Given the description of an element on the screen output the (x, y) to click on. 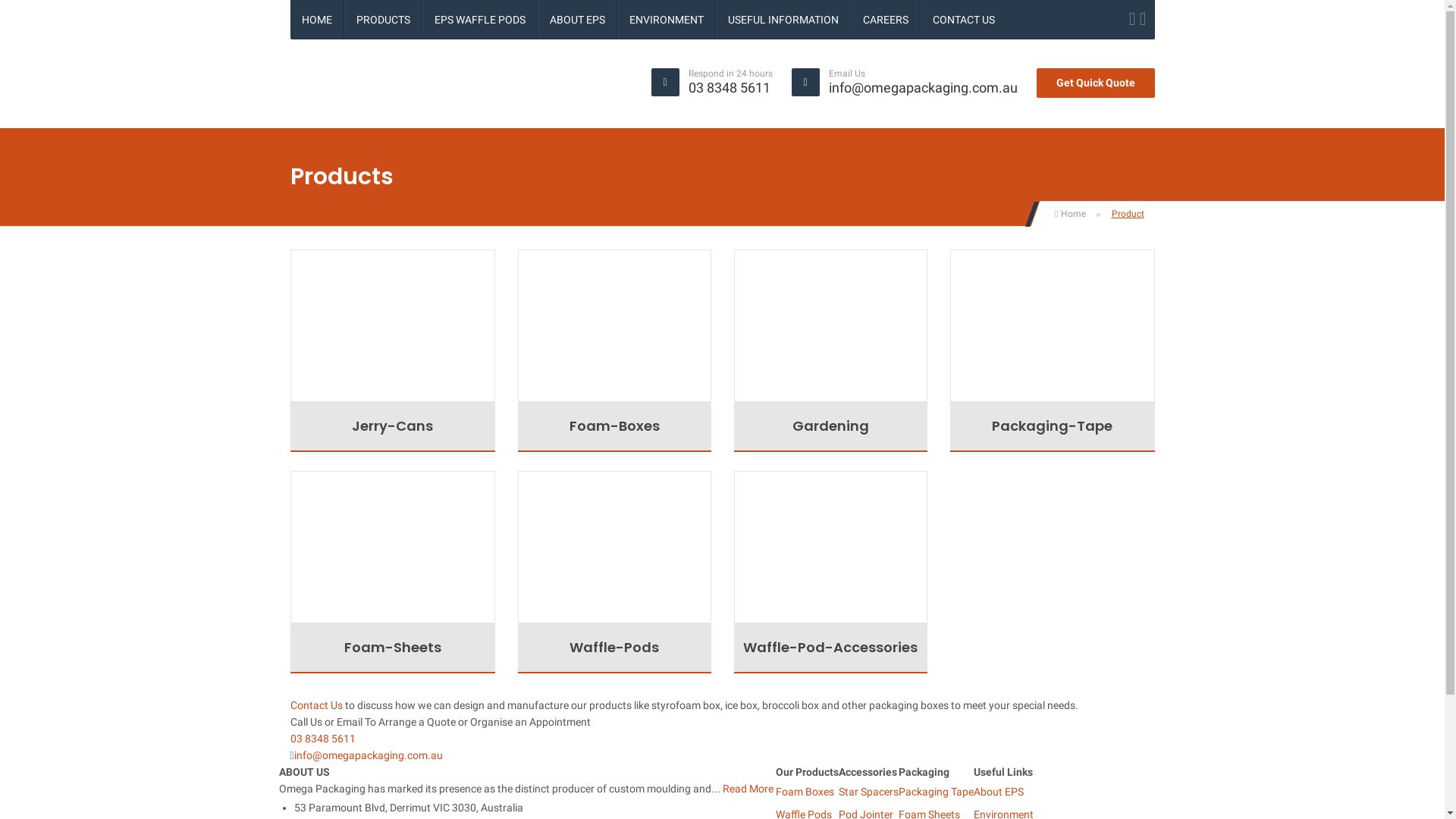
EPS WAFFLE PODS Element type: text (479, 19)
Packaging Tape Element type: text (934, 791)
About EPS Element type: text (998, 791)
USEFUL INFORMATION Element type: text (782, 19)
Foam-Boxes Element type: text (613, 425)
Packaging-Tape Element type: text (1051, 425)
03 8348 5611 Element type: text (729, 87)
Foam-Sheets Element type: text (391, 647)
Waffle-Pods Element type: text (613, 647)
Read More Element type: text (746, 788)
Get Quick Quote Element type: text (1094, 82)
HOME Element type: text (315, 19)
ENVIRONMENT Element type: text (665, 19)
Home Element type: text (1069, 213)
CAREERS Element type: text (884, 19)
Gardening Element type: text (830, 425)
Waffle-Pod-Accessories Element type: text (830, 647)
info@omegapackaging.com.au Element type: text (922, 87)
ABOUT EPS Element type: text (577, 19)
Contact Us Element type: text (315, 705)
CONTACT US Element type: text (962, 19)
info@omegapackaging.com.au Element type: text (368, 755)
03 8348 5611 Element type: text (321, 738)
Foam Boxes Element type: text (804, 791)
Jerry-Cans Element type: text (391, 425)
PRODUCTS Element type: text (382, 19)
Star Spacers Element type: text (868, 791)
